Given the description of an element on the screen output the (x, y) to click on. 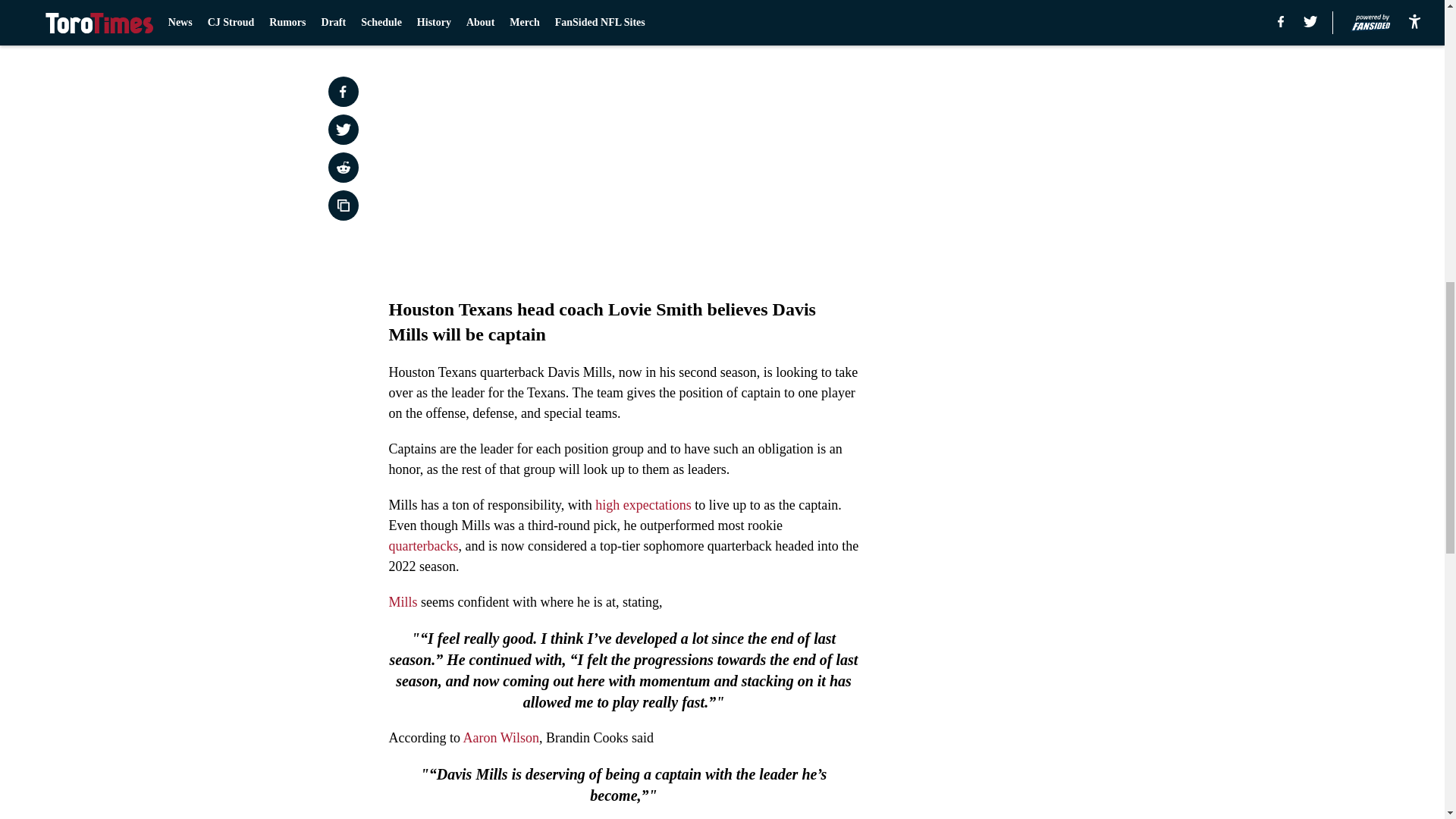
Aaron Wilson (500, 737)
Mills (402, 601)
quarterbacks (423, 545)
high expectations (642, 504)
